Given the description of an element on the screen output the (x, y) to click on. 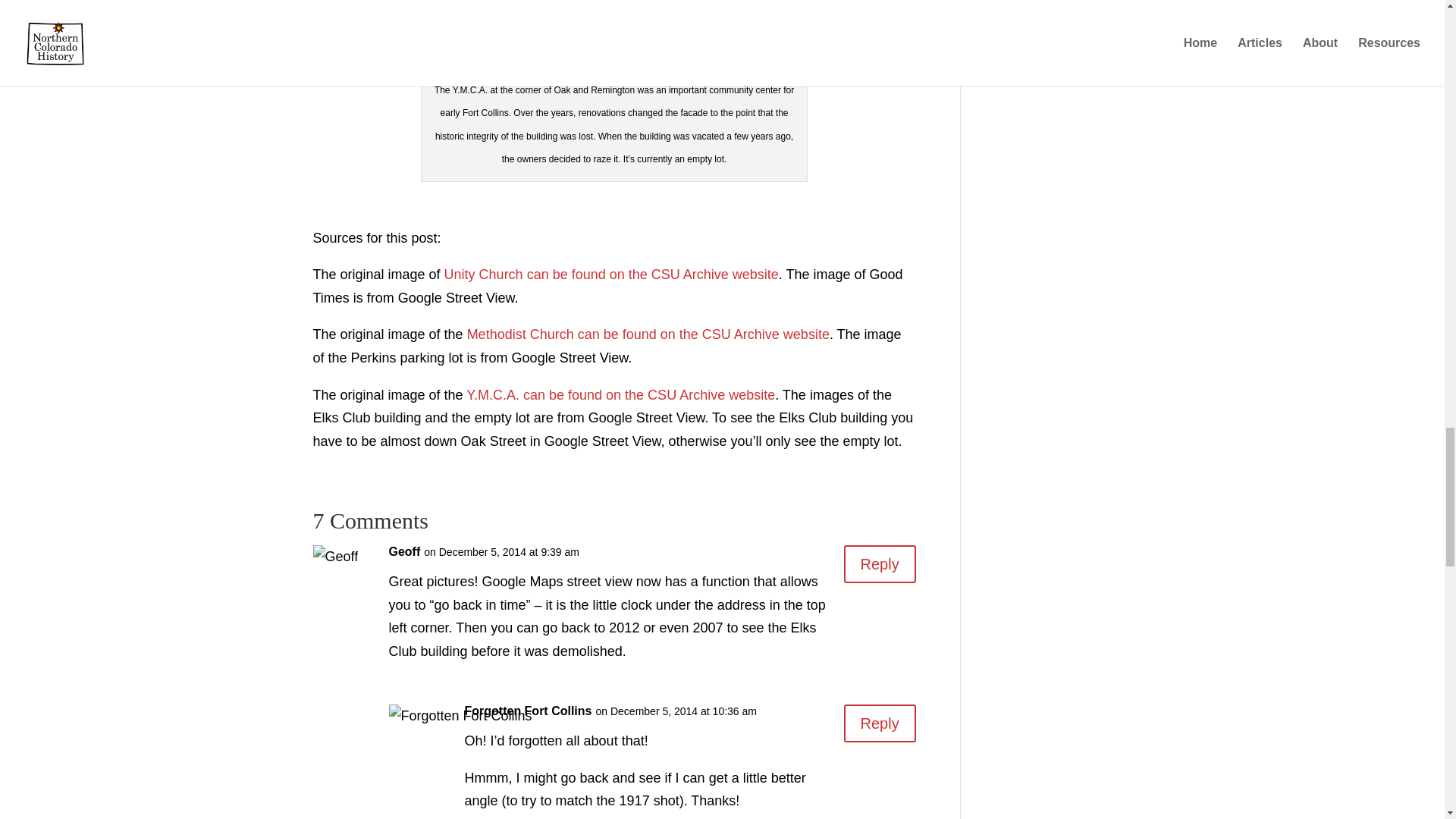
Y.M.C.A. can be found on the CSU Archive website (619, 394)
Reply (879, 564)
Forgotten Fort Collins (527, 711)
Unity Church can be found on the CSU Archive website (611, 273)
Methodist Church can be found on the CSU Archive website (648, 334)
Reply (879, 723)
